Given the description of an element on the screen output the (x, y) to click on. 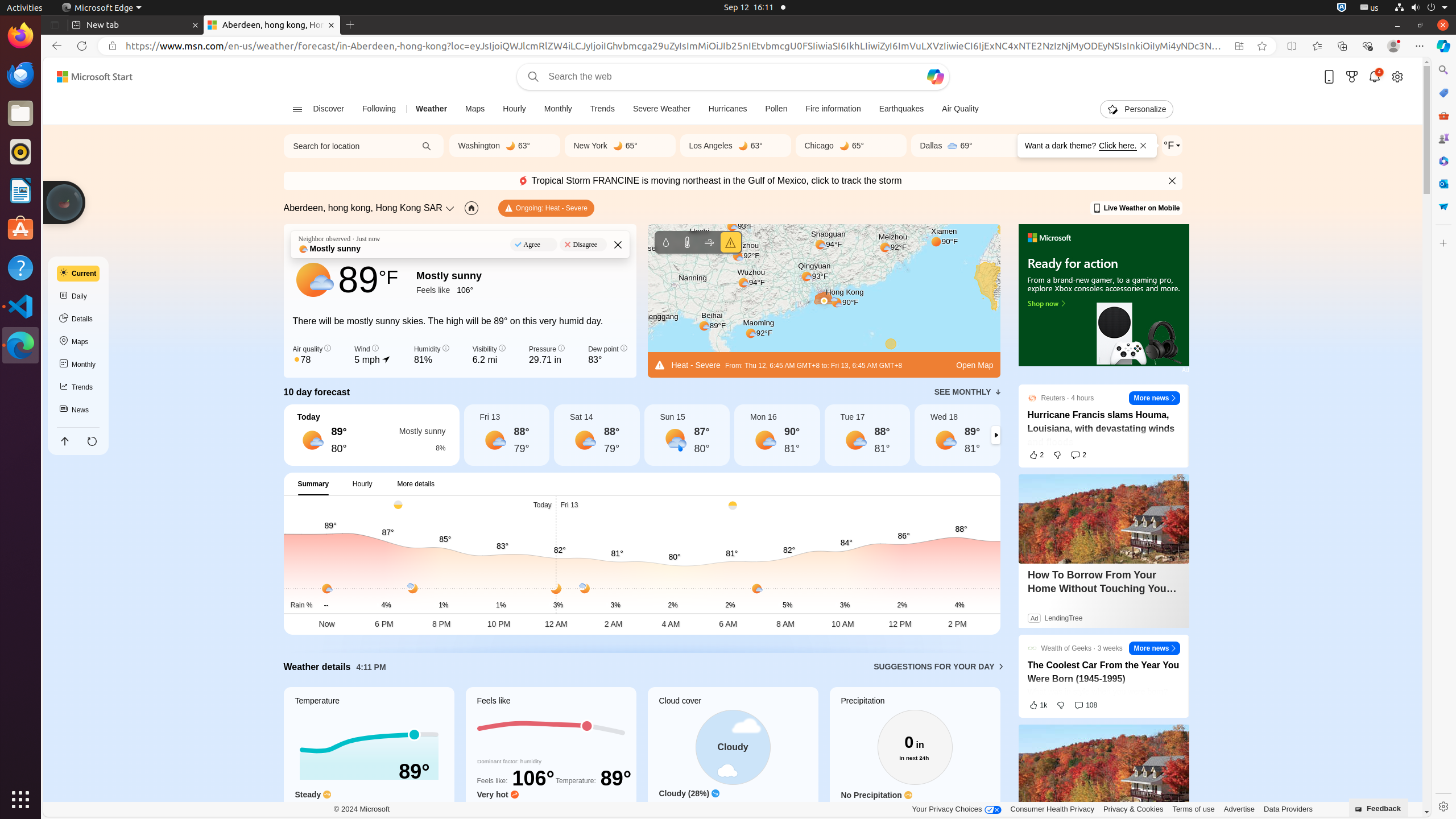
Weather settings Element type: push-button (1171, 145)
Collections Element type: push-button (1341, 45)
:1.72/StatusNotifierItem Element type: menu (1341, 7)
Tab actions menu Element type: push-button (54, 24)
Search Element type: push-button (1443, 69)
